Given the description of an element on the screen output the (x, y) to click on. 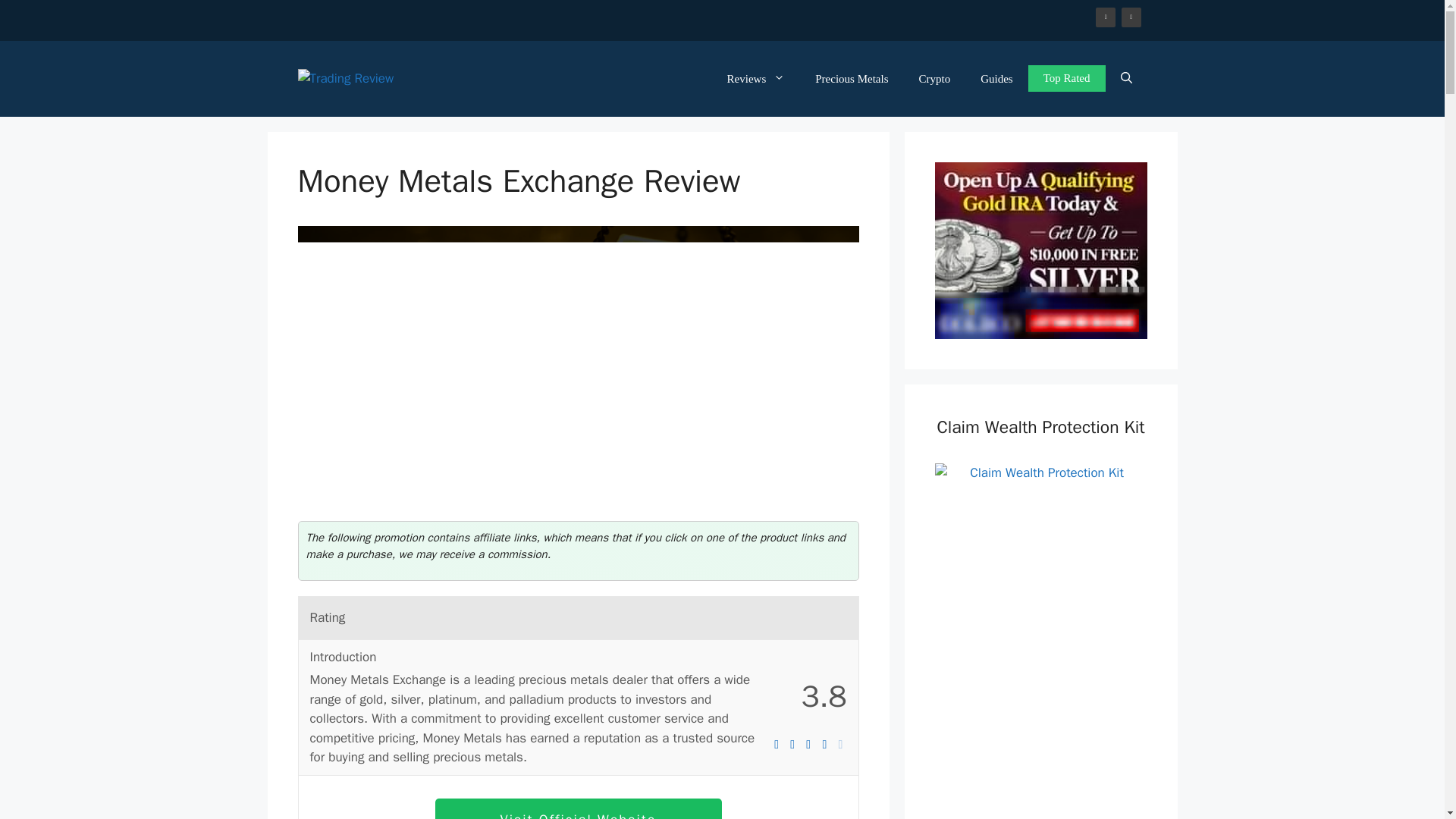
Top Rated (1066, 78)
Guides (996, 78)
Precious Metals (850, 78)
Twitter (1131, 17)
Reviews (755, 78)
Facebook (1105, 17)
Visit Official Website (578, 808)
Crypto (933, 78)
